Given the description of an element on the screen output the (x, y) to click on. 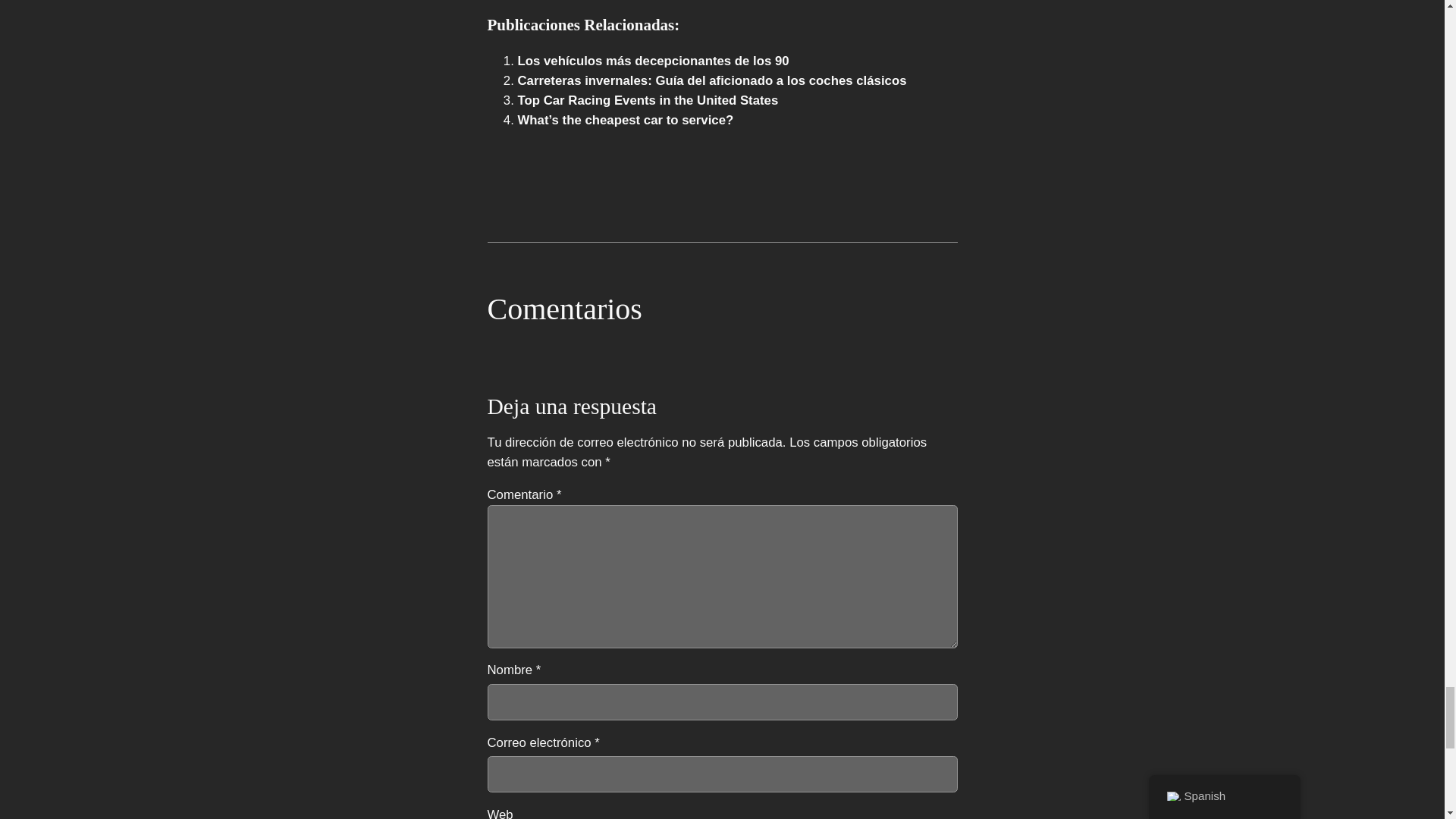
Top Car Racing Events in the United States (646, 100)
Top Car Racing Events in the United States (646, 100)
